Given the description of an element on the screen output the (x, y) to click on. 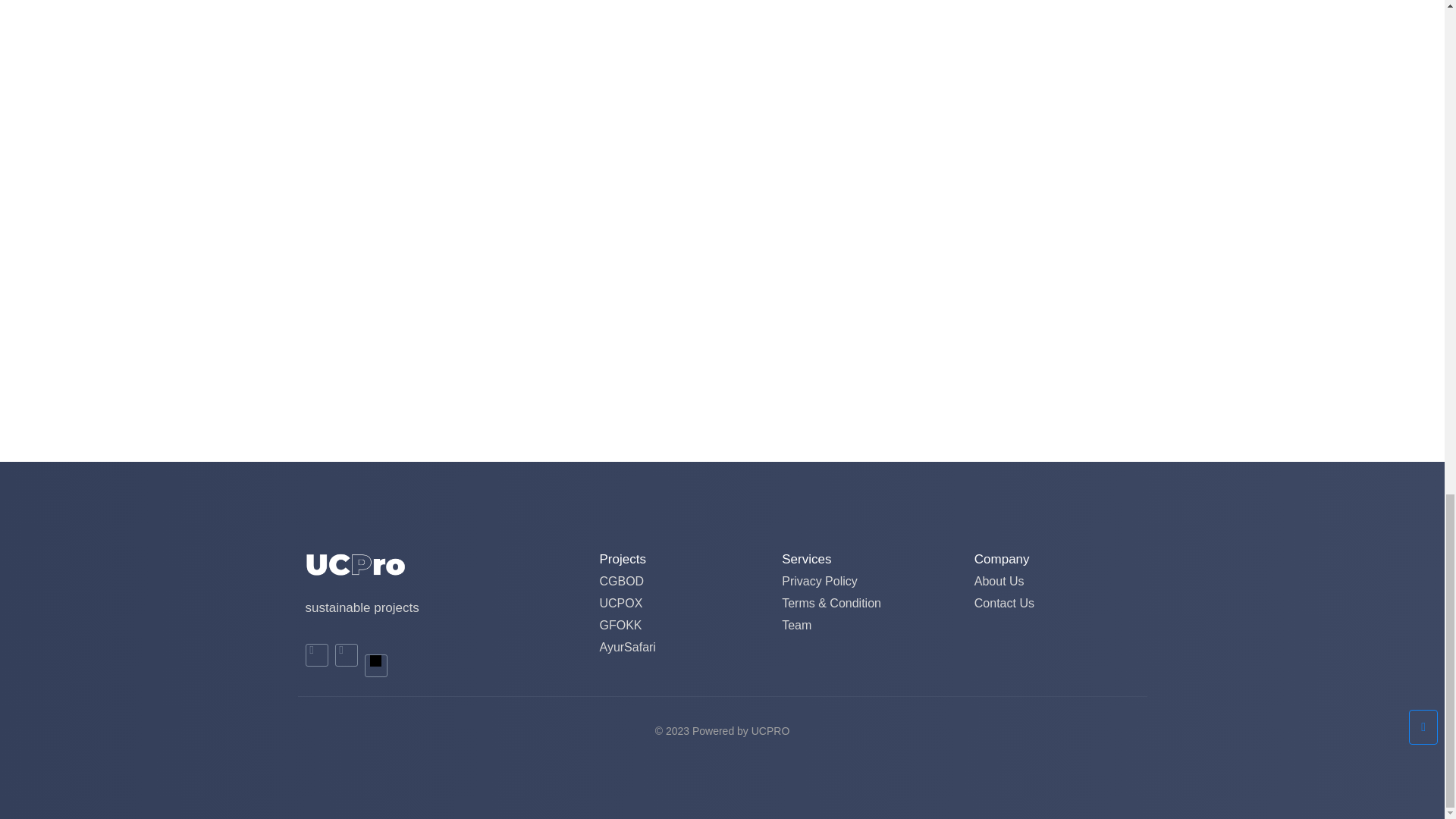
CGBOD (620, 581)
Submit (358, 313)
AyurSafari (626, 646)
GFOKK (620, 625)
UCPOX (620, 603)
